Given the description of an element on the screen output the (x, y) to click on. 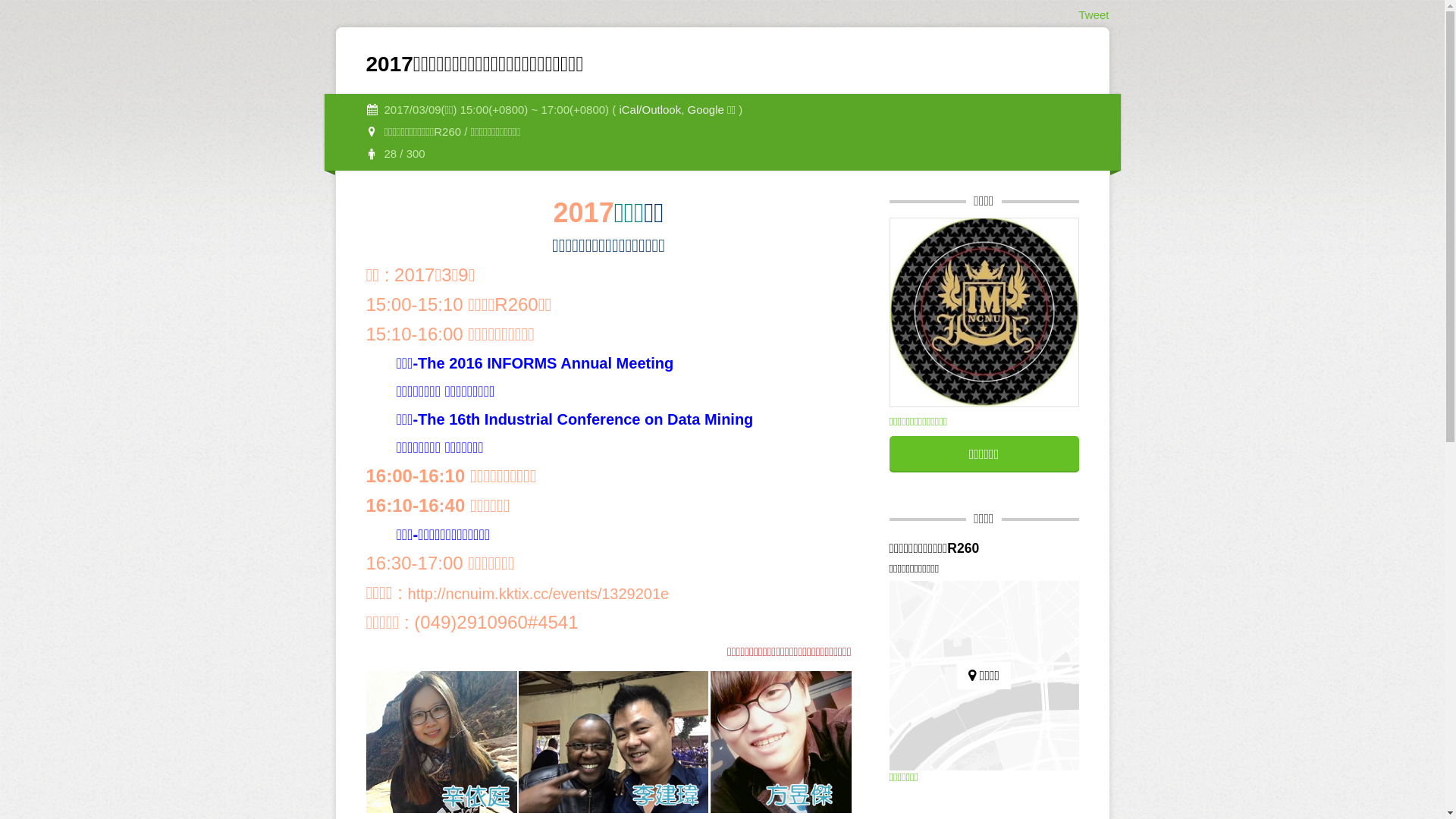
iCal/Outlook Element type: text (649, 109)
Tweet Element type: text (1093, 14)
